Given the description of an element on the screen output the (x, y) to click on. 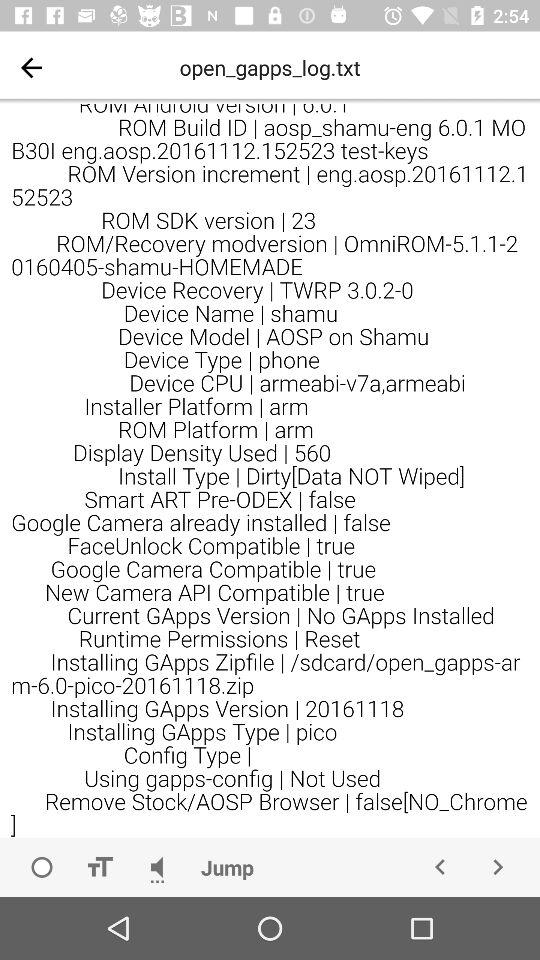
voice on/off option (157, 867)
